Given the description of an element on the screen output the (x, y) to click on. 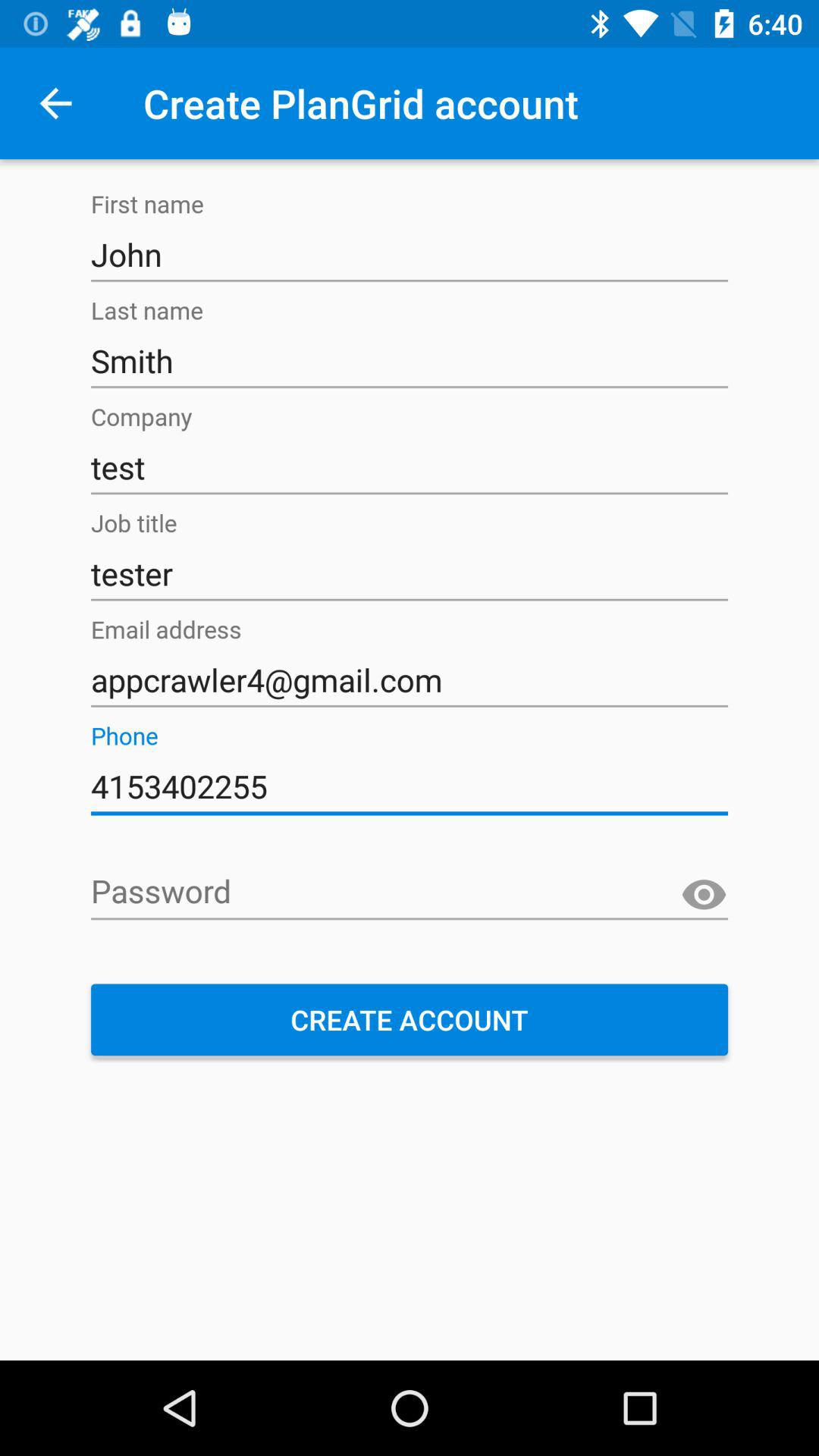
press item below test icon (409, 573)
